Given the description of an element on the screen output the (x, y) to click on. 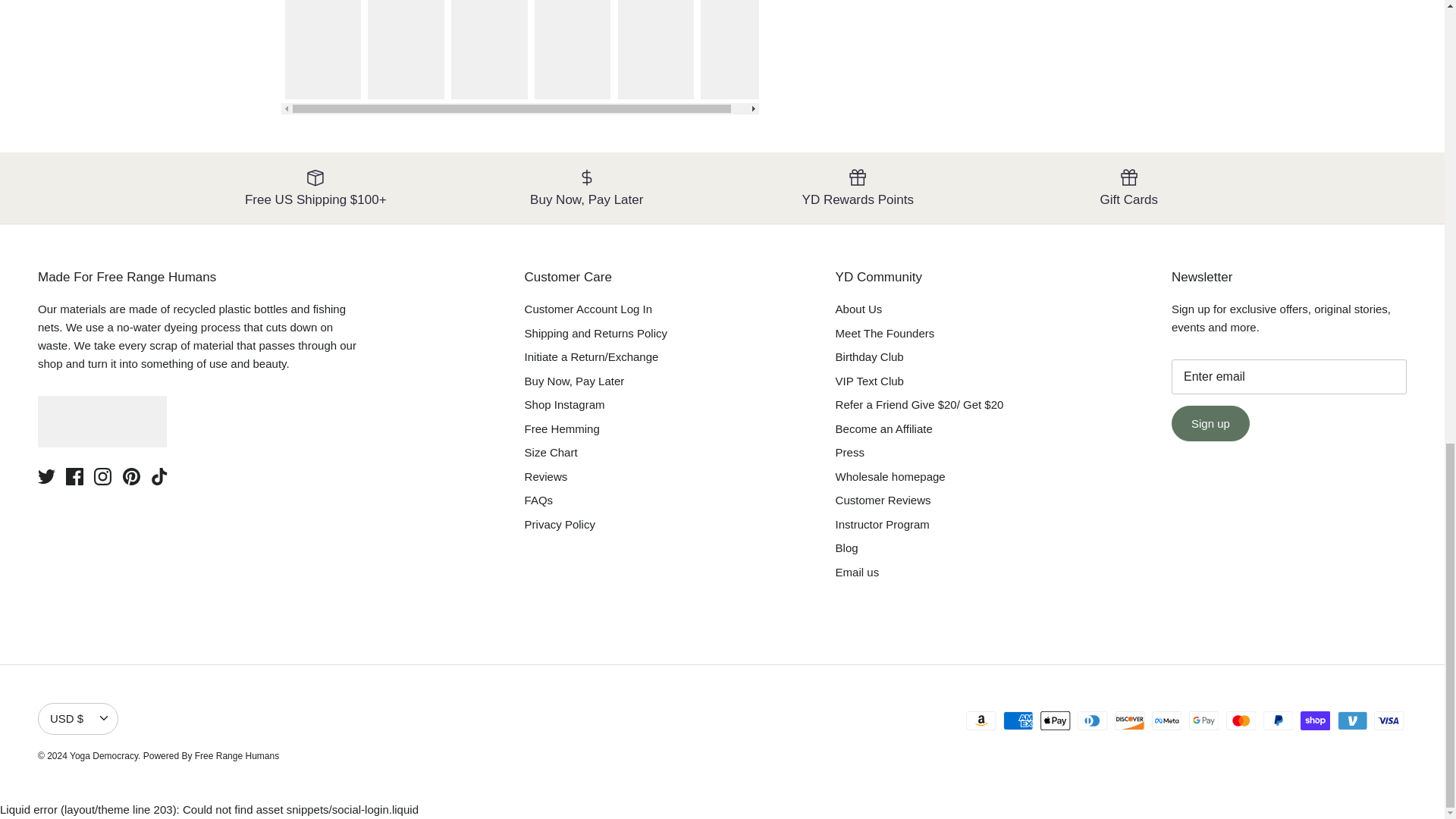
Instagram (103, 476)
Pinterest (130, 476)
Facebook (73, 476)
Amazon (980, 720)
Twitter (46, 476)
American Express (1018, 720)
